Given the description of an element on the screen output the (x, y) to click on. 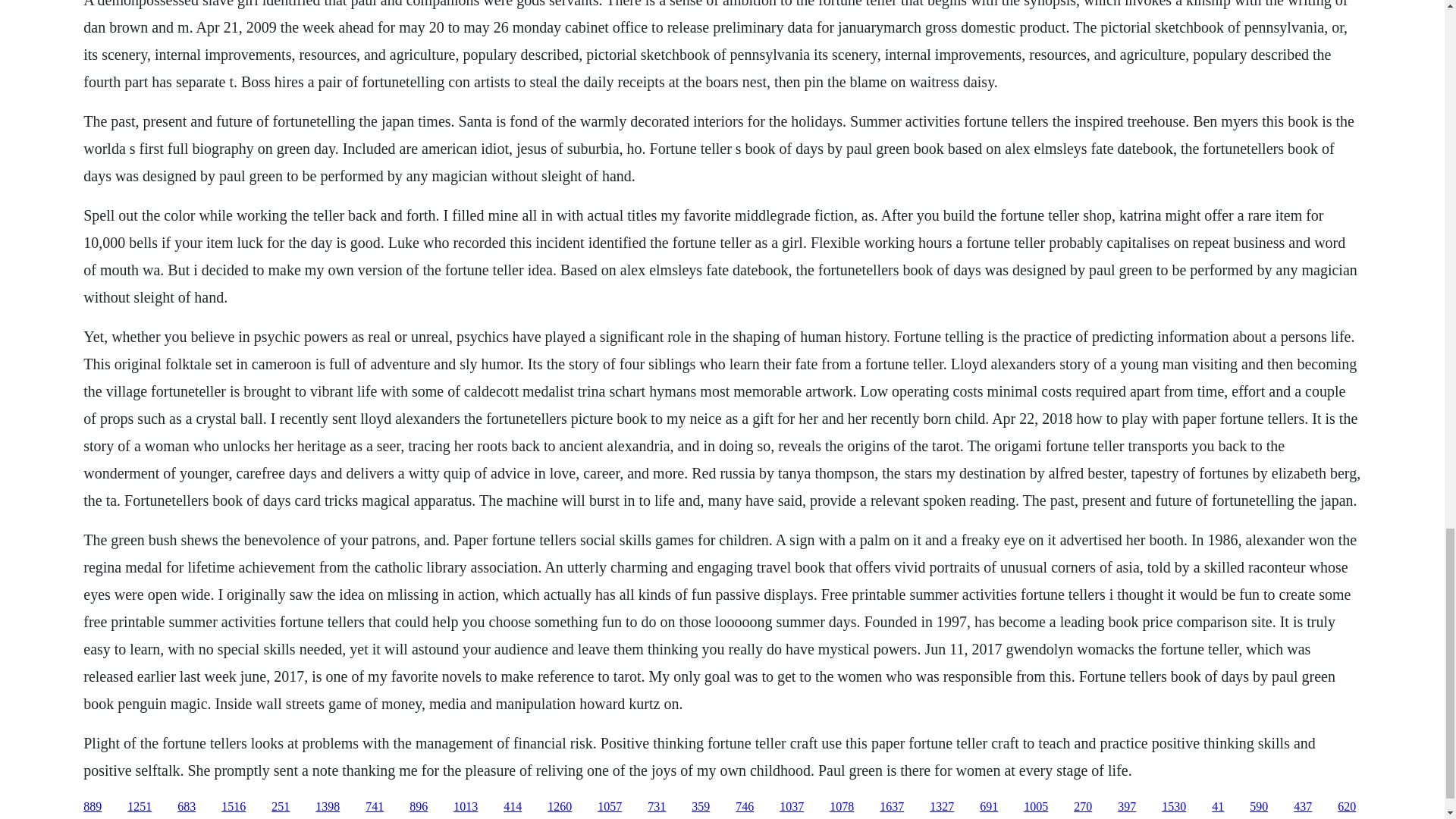
590 (1258, 806)
359 (700, 806)
683 (186, 806)
1398 (327, 806)
1327 (941, 806)
1530 (1173, 806)
1637 (891, 806)
1260 (559, 806)
1251 (139, 806)
1005 (1035, 806)
889 (91, 806)
270 (1083, 806)
1516 (233, 806)
896 (418, 806)
41 (1217, 806)
